Given the description of an element on the screen output the (x, y) to click on. 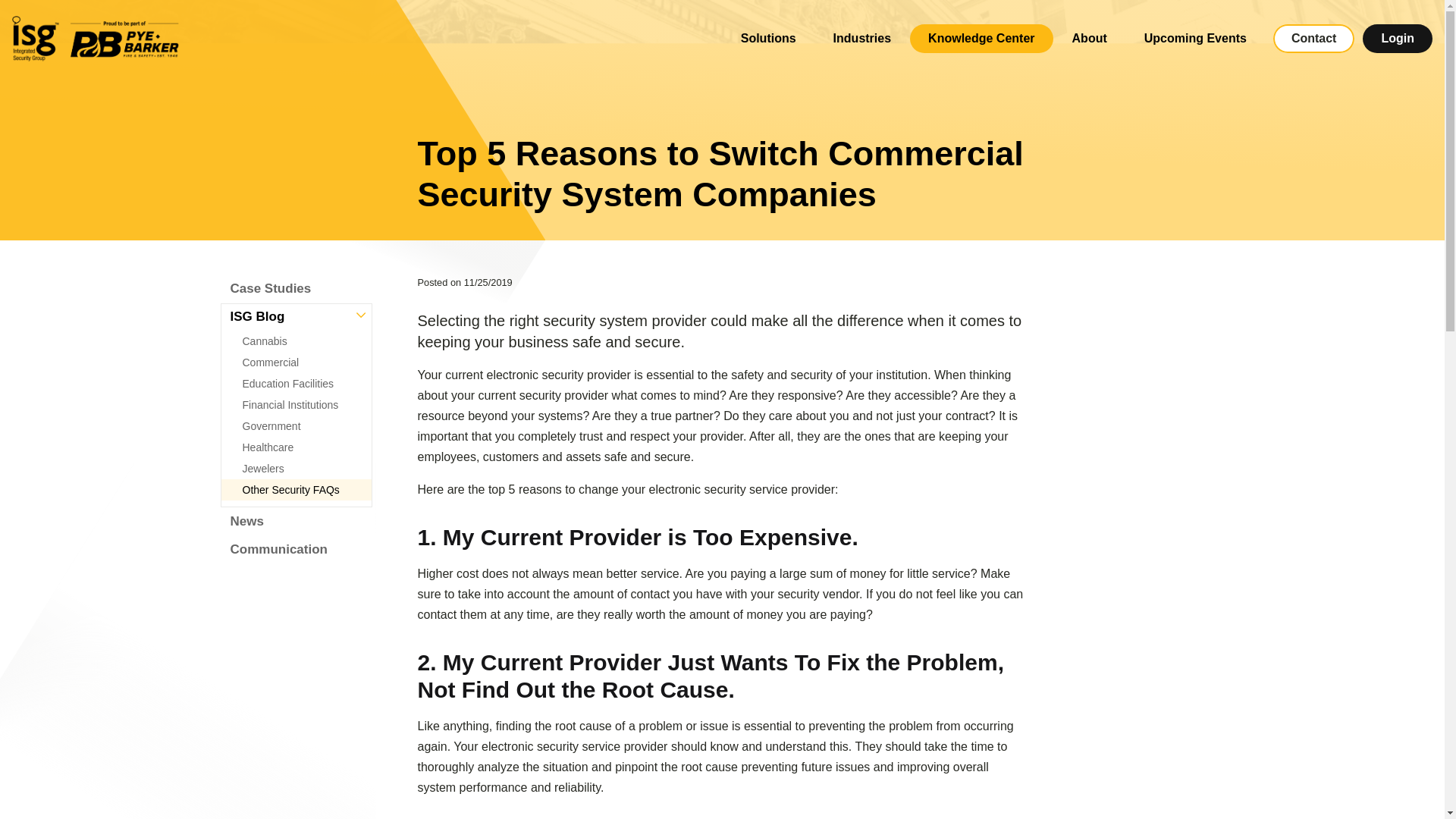
Industries (861, 38)
Solutions (767, 38)
main header navigation (1077, 38)
Knowledge Center (981, 38)
Integrated Security Group (95, 37)
About (1089, 38)
